Given the description of an element on the screen output the (x, y) to click on. 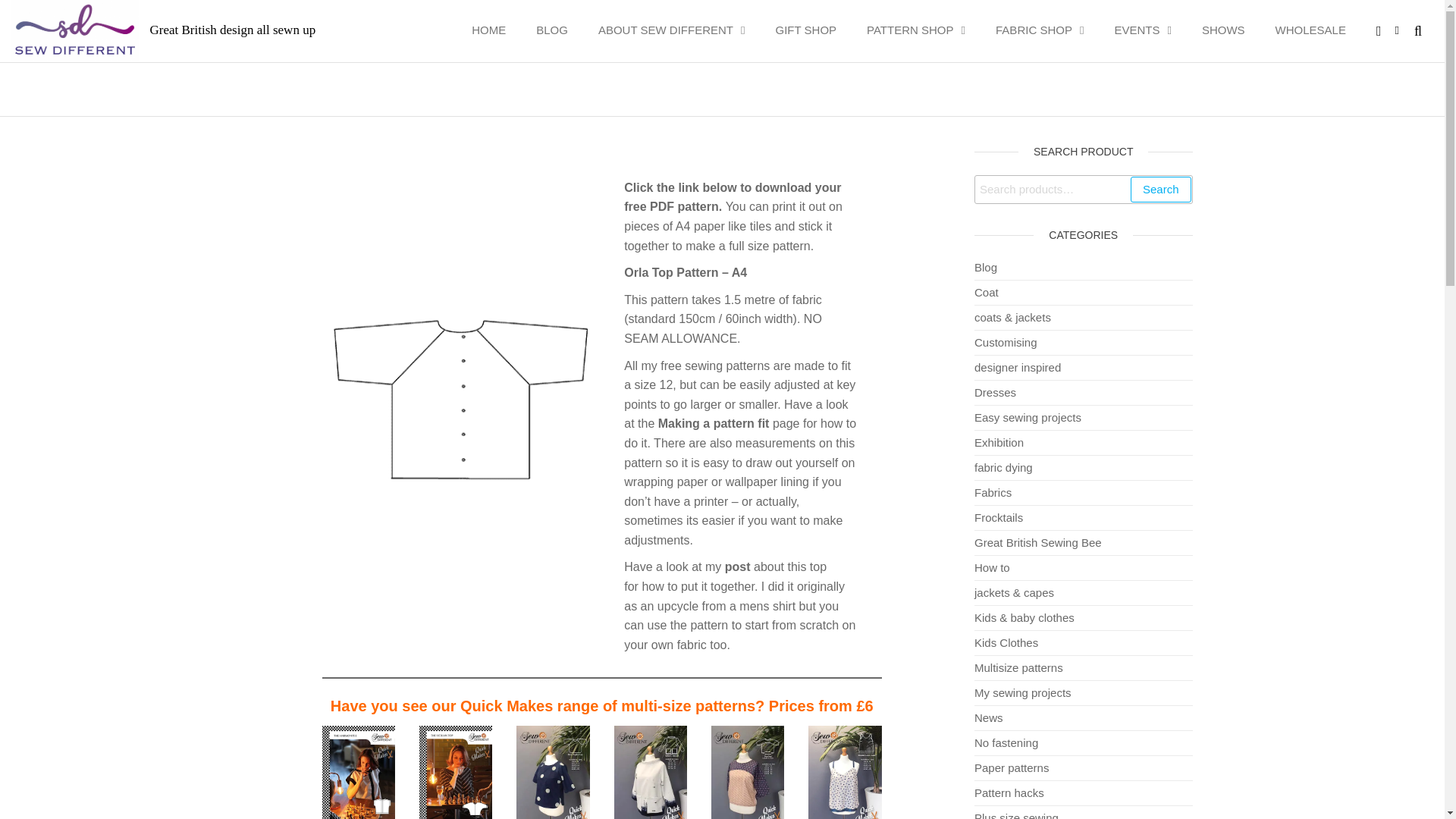
HOME (496, 30)
SHOWS (1230, 30)
ABOUT SEW DIFFERENT (679, 30)
GIFT SHOP (813, 30)
EVENTS (1149, 30)
BLOG (559, 30)
PATTERN SHOP (923, 30)
Gift Shop (813, 30)
About Sew Different (679, 30)
